Given the description of an element on the screen output the (x, y) to click on. 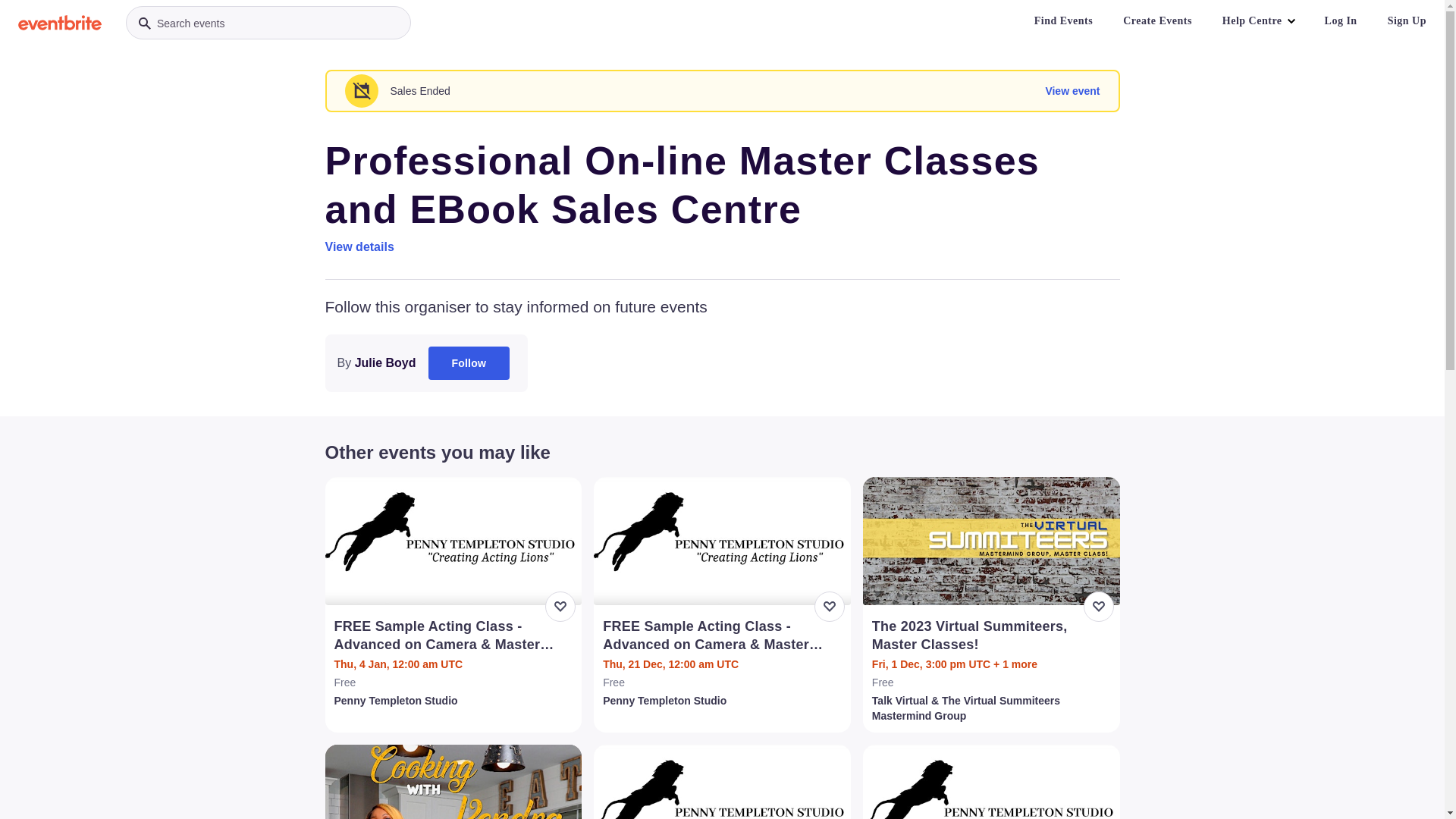
Eventbrite Element type: hover (59, 22)
View event Element type: text (1071, 90)
Find Events Element type: text (1063, 21)
Sign Up Element type: text (1406, 21)
Search events Element type: text (268, 22)
Follow Element type: text (469, 362)
Log In Element type: text (1340, 21)
Create Events Element type: text (1157, 21)
View details Element type: text (358, 246)
The 2023 Virtual Summiteers, Master Classes! Element type: text (992, 635)
